Given the description of an element on the screen output the (x, y) to click on. 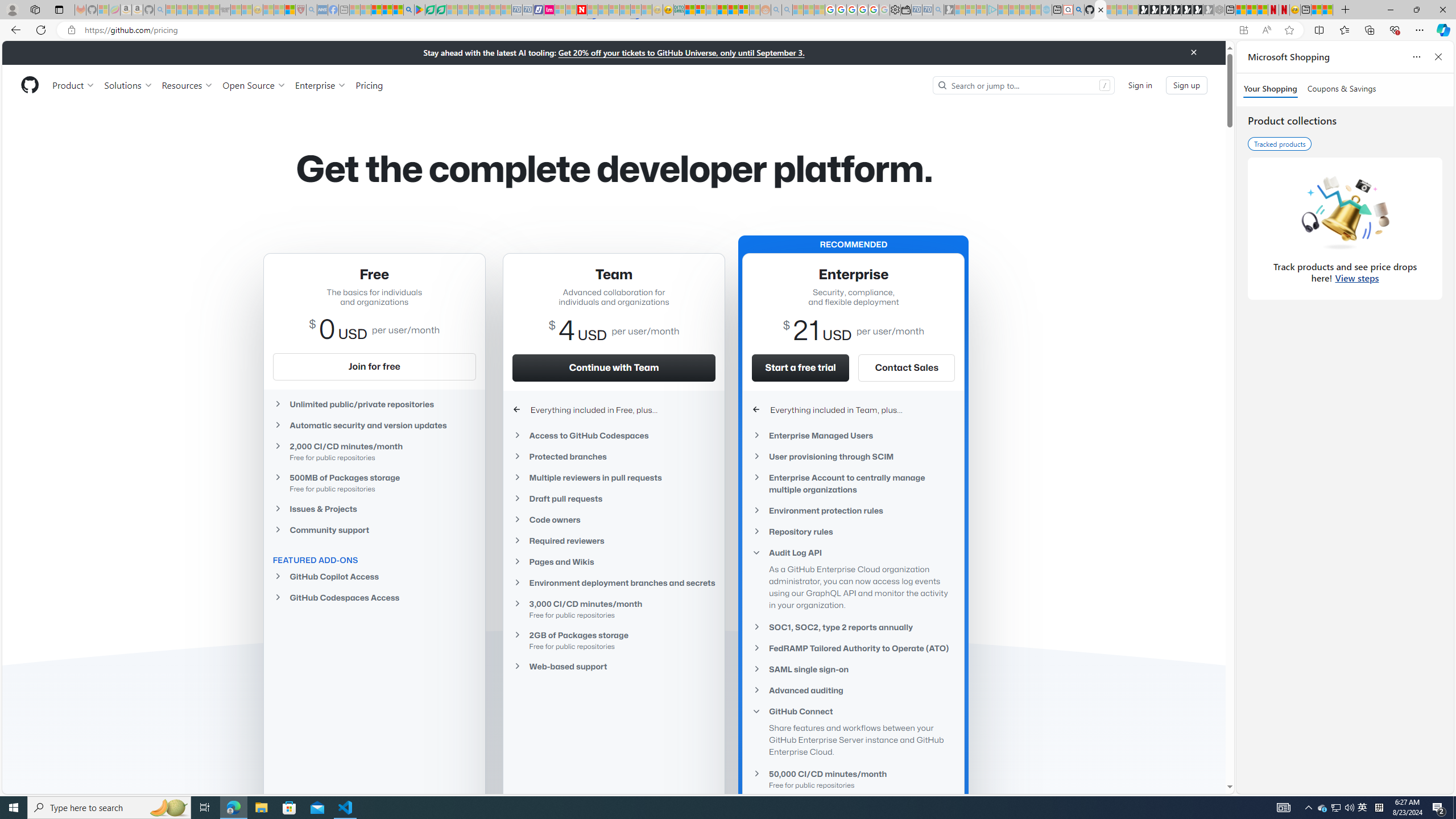
500MB of Packages storage Free for public repositories (374, 482)
Local - MSN (289, 9)
Advanced auditing (853, 690)
2GB of Packages storageFree for public repositories (614, 640)
Environment deployment branches and secrets (614, 582)
Multiple reviewers in pull requests (614, 477)
Environment protection rules (853, 510)
